Given the description of an element on the screen output the (x, y) to click on. 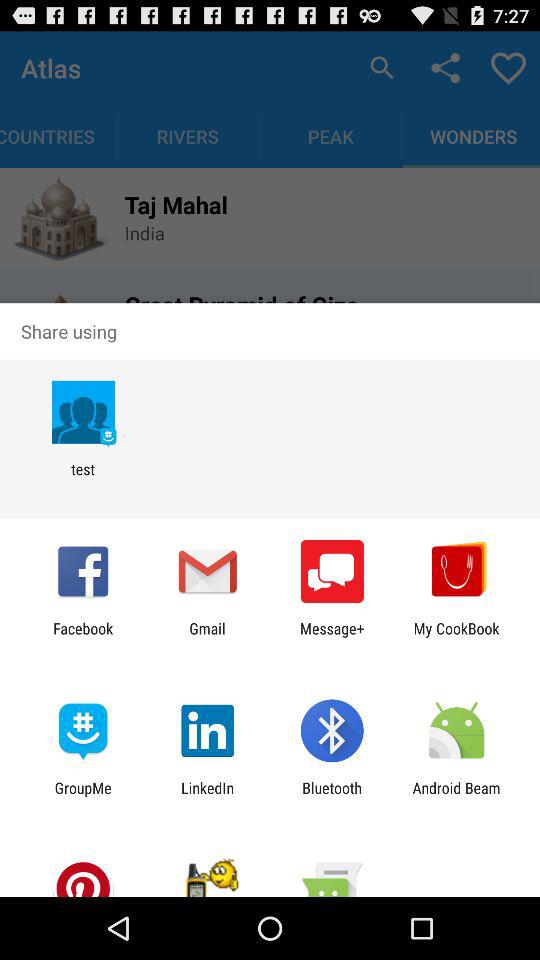
turn on item to the right of linkedin icon (331, 796)
